Given the description of an element on the screen output the (x, y) to click on. 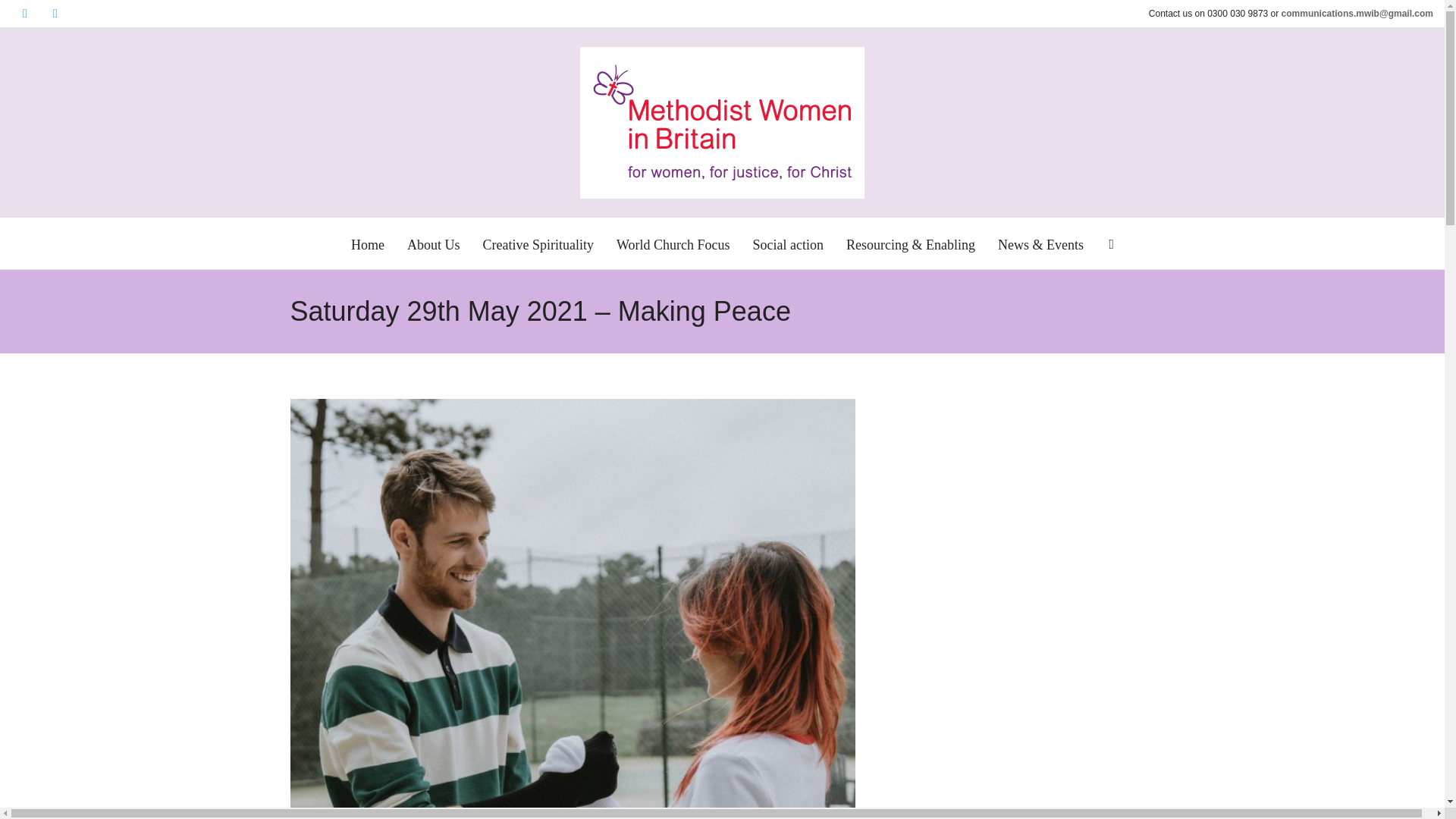
About Us (433, 244)
World Church Focus (673, 244)
Creative Spirituality (537, 244)
Home (367, 244)
Social action (787, 244)
